Given the description of an element on the screen output the (x, y) to click on. 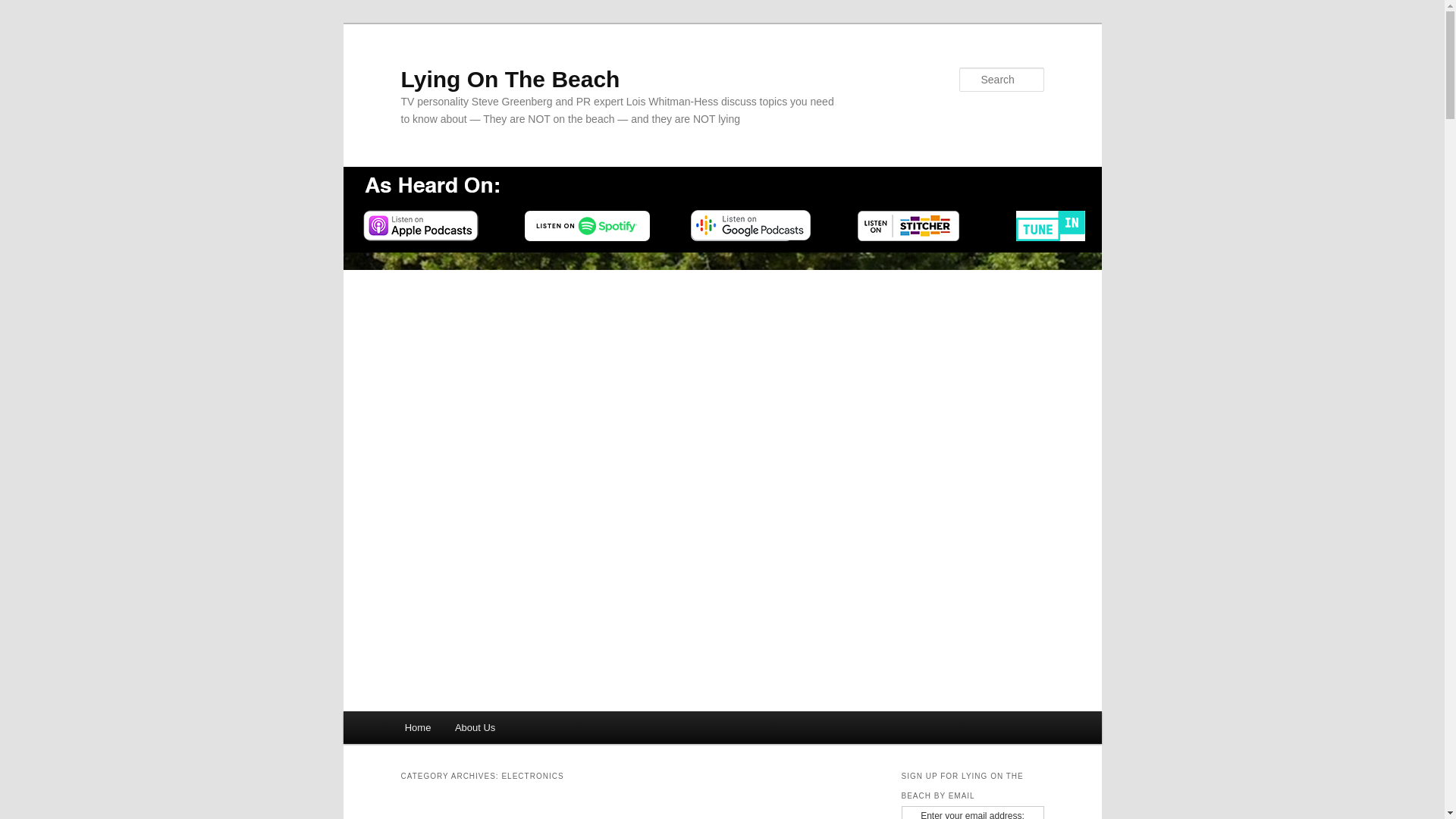
About Us (474, 727)
Home (417, 727)
Lying On The Beach (510, 78)
Search (24, 8)
